Given the description of an element on the screen output the (x, y) to click on. 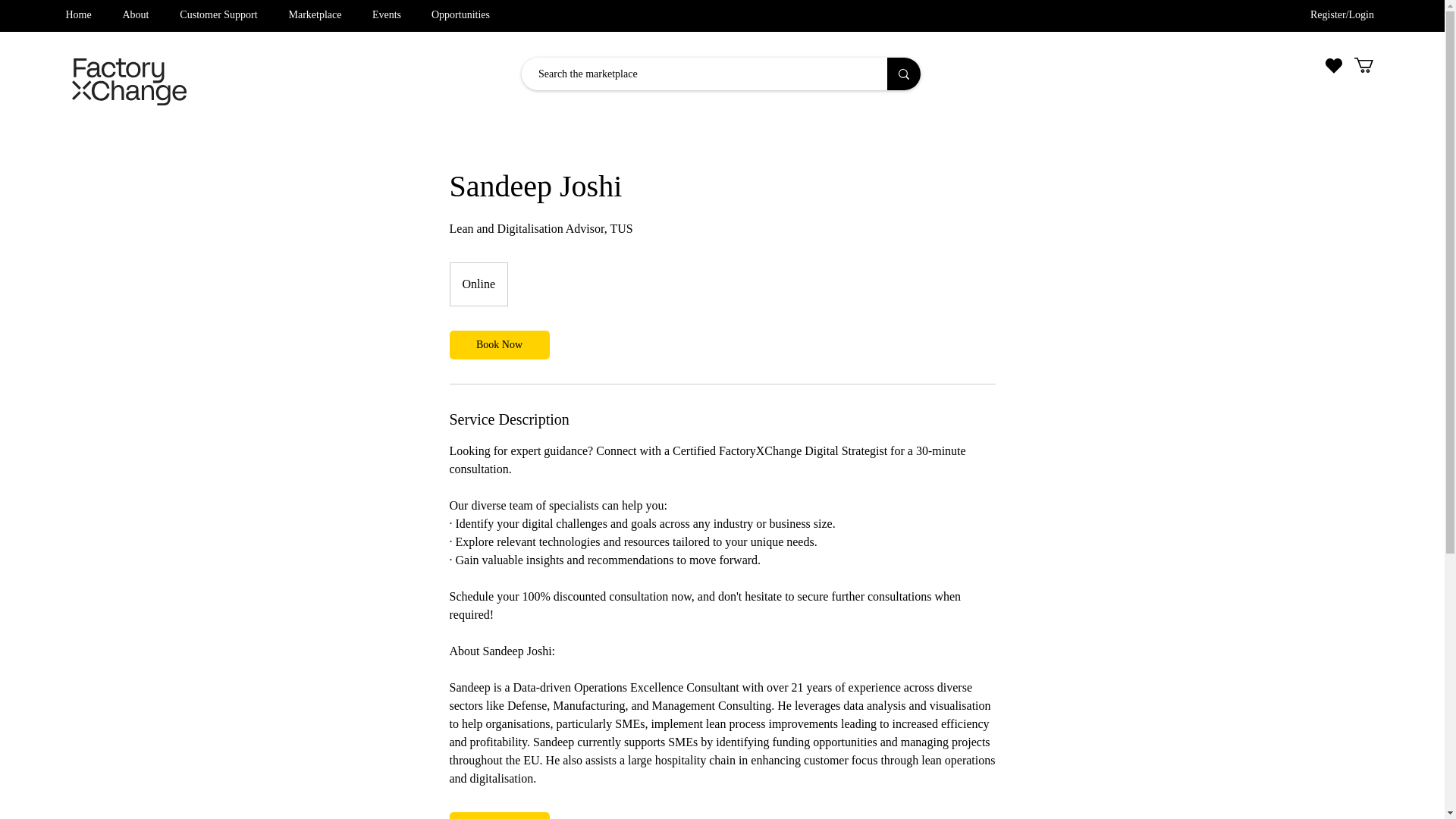
About (135, 14)
Customer Support (218, 14)
Marketplace (314, 14)
Home (77, 14)
Events (386, 14)
Book Now (498, 344)
Opportunities (460, 14)
Book Now (498, 815)
